Given the description of an element on the screen output the (x, y) to click on. 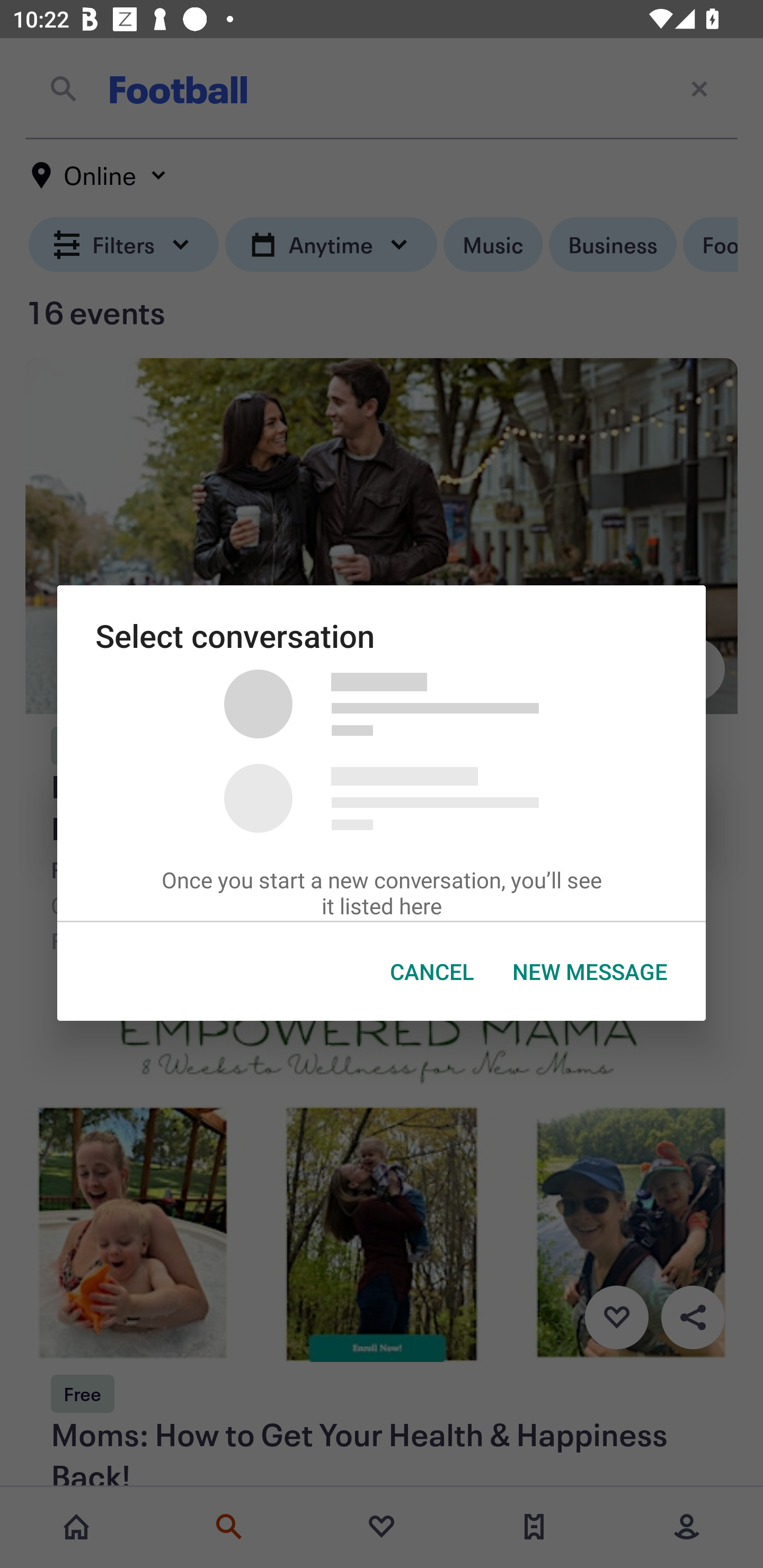
CANCEL (431, 971)
NEW MESSAGE (589, 971)
